Given the description of an element on the screen output the (x, y) to click on. 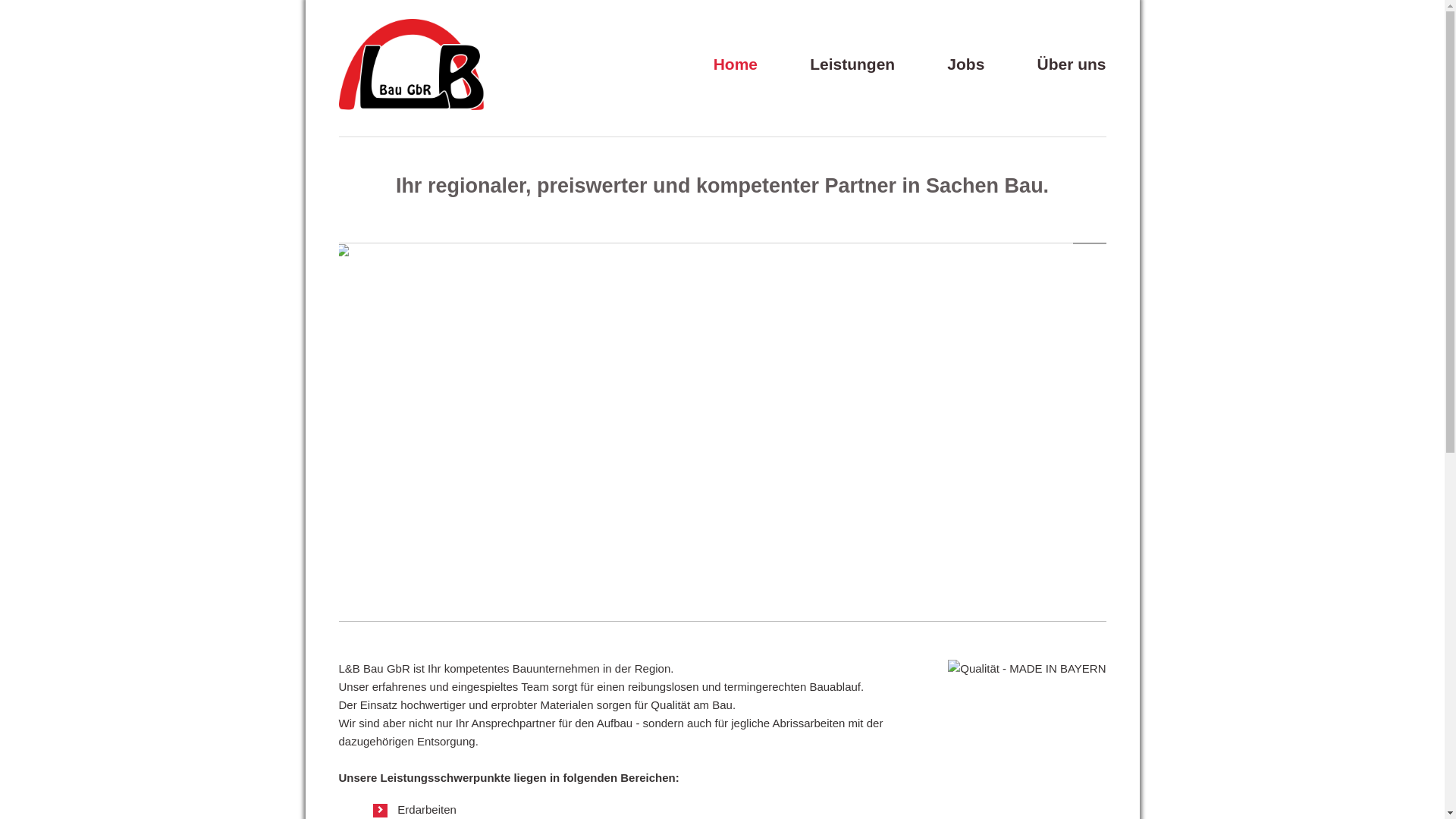
Jobs Element type: text (965, 64)
Home Element type: text (735, 64)
  Element type: text (1105, 41)
Leistungen Element type: text (852, 64)
